Given the description of an element on the screen output the (x, y) to click on. 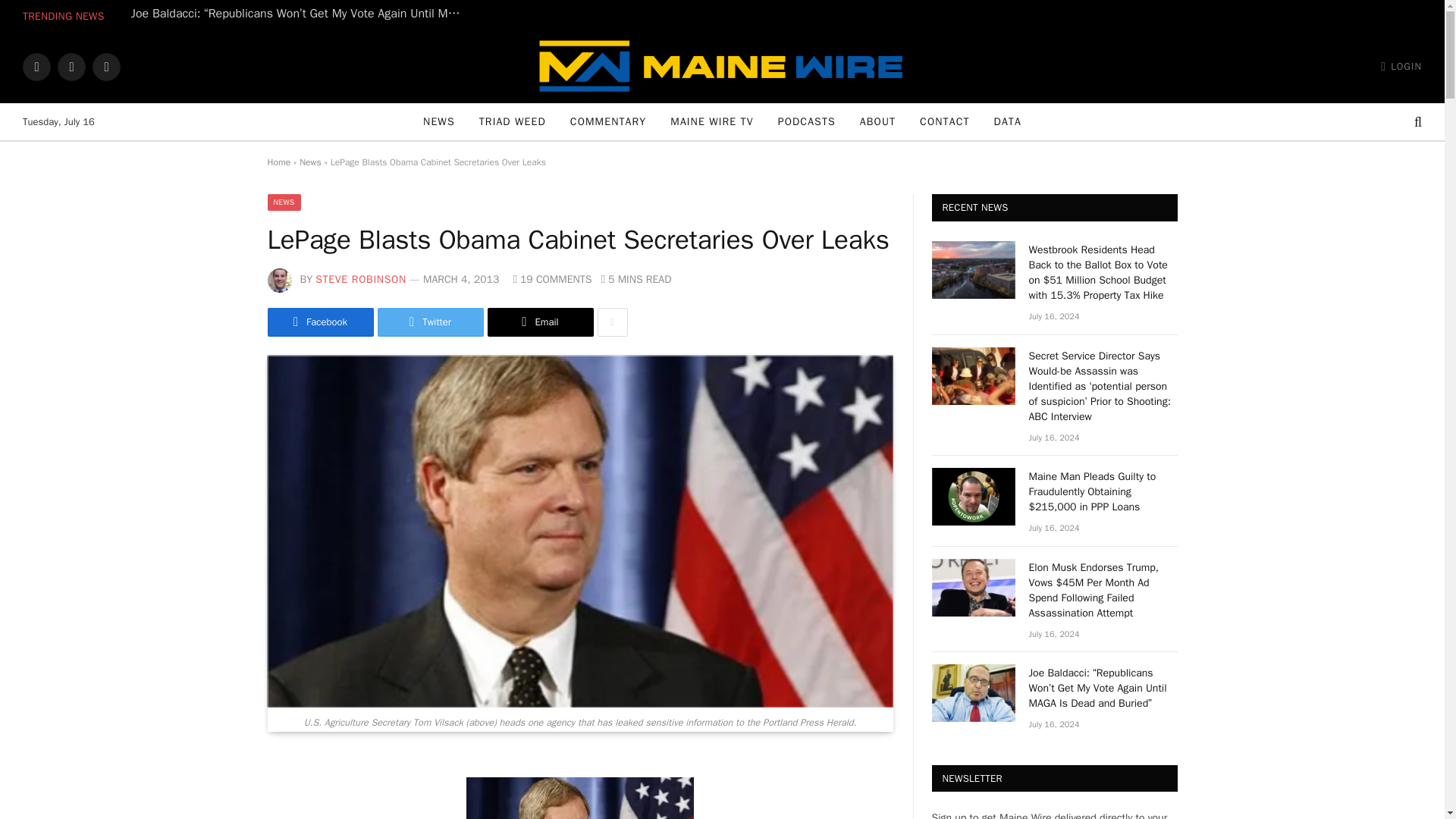
COMMENTARY (607, 122)
NEWS (438, 122)
News (310, 162)
CONTACT (944, 122)
Posts by Steve Robinson (360, 278)
PODCASTS (806, 122)
Show More Social Sharing (611, 321)
TRIAD WEED (512, 122)
Share on Facebook (319, 321)
Twitter (71, 67)
Instagram (106, 67)
ABOUT (877, 122)
NEWS (282, 202)
LOGIN (1401, 66)
DATA (1007, 122)
